Given the description of an element on the screen output the (x, y) to click on. 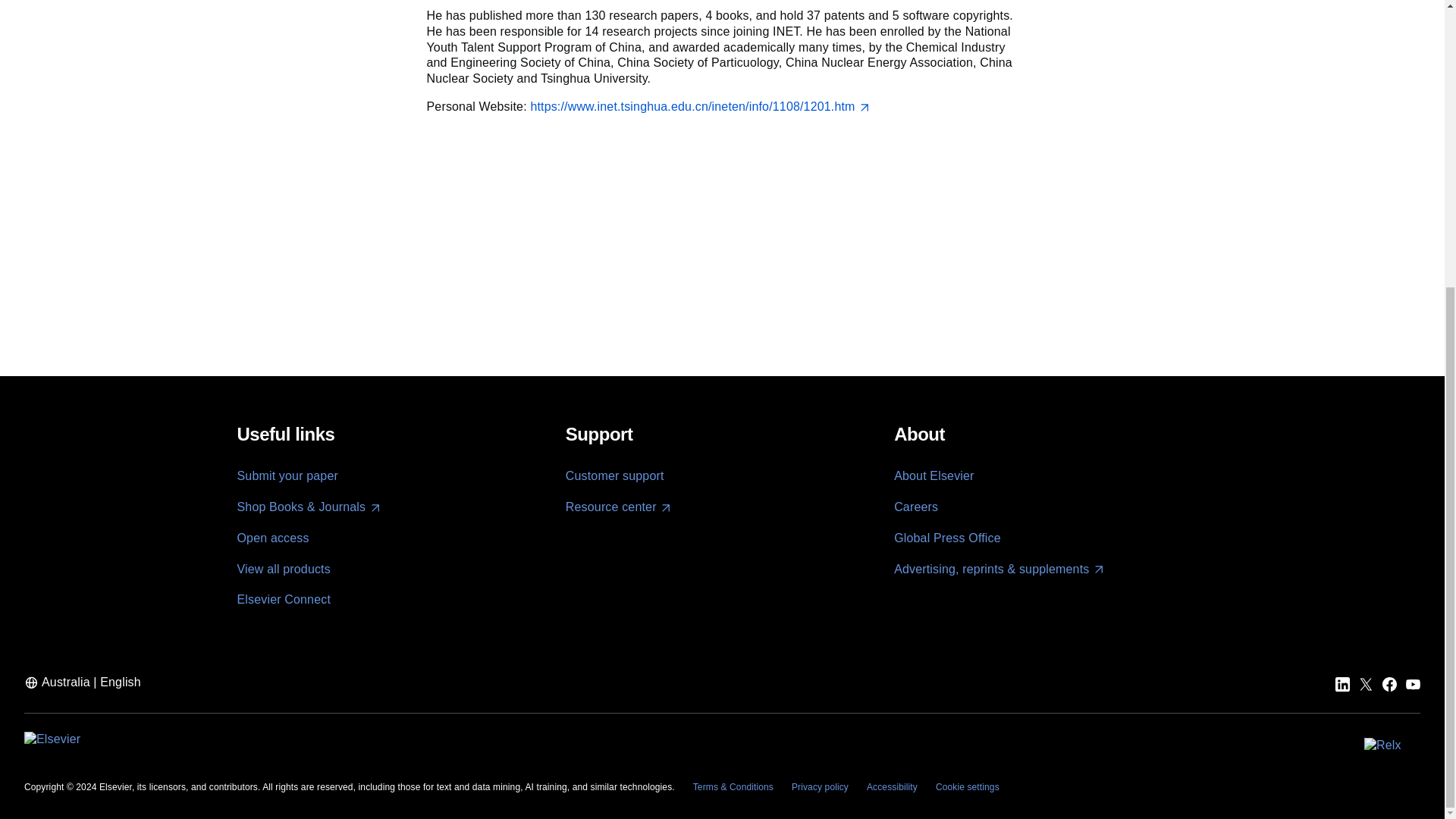
Global Press Office (947, 537)
View all products (282, 568)
Submit your paper (286, 475)
Customer support (614, 475)
Resource center (618, 507)
About Elsevier (933, 475)
Elsevier Connect (282, 599)
Open access (271, 537)
Careers (915, 506)
